Given the description of an element on the screen output the (x, y) to click on. 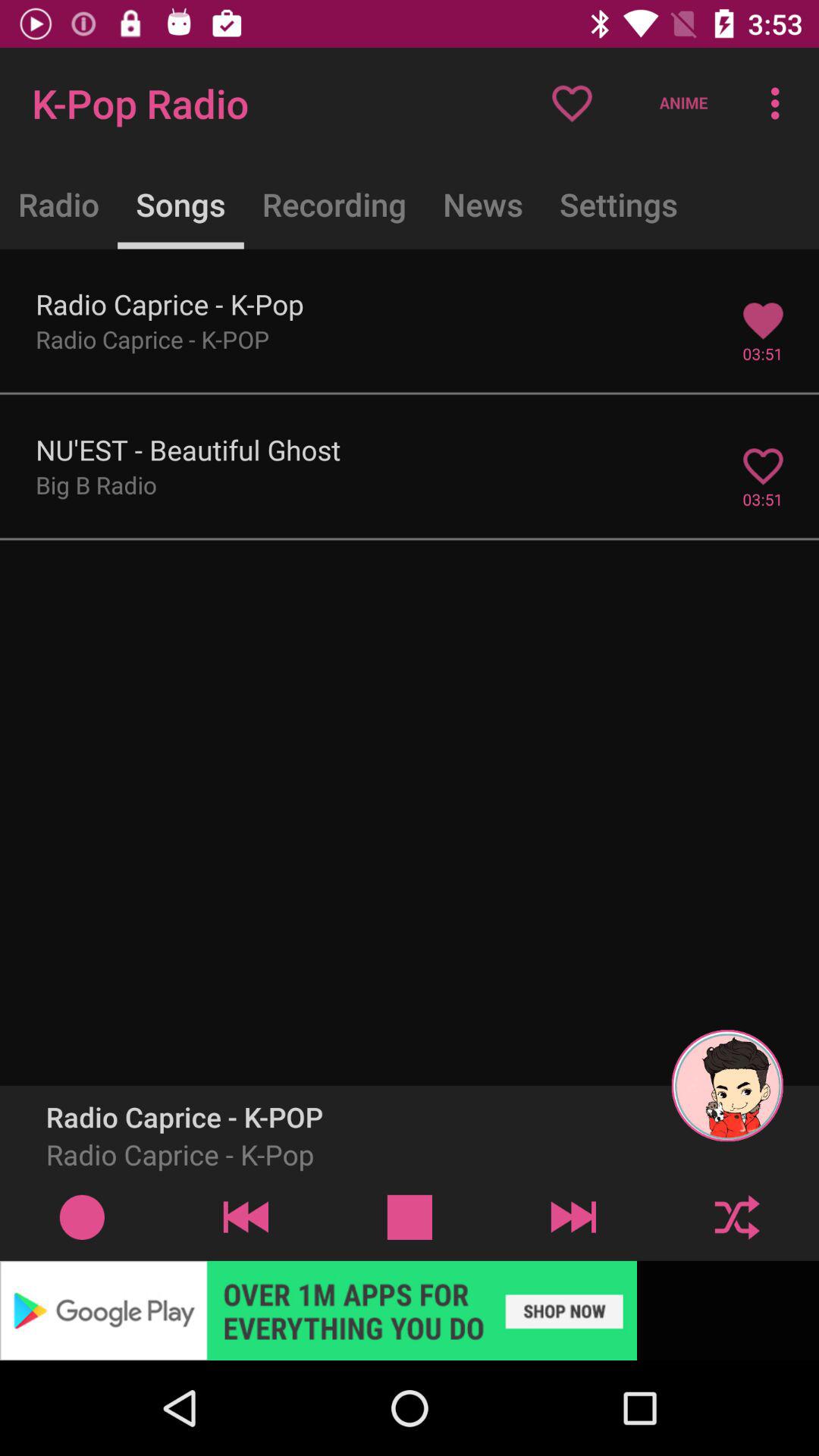
record audio (81, 1216)
